Given the description of an element on the screen output the (x, y) to click on. 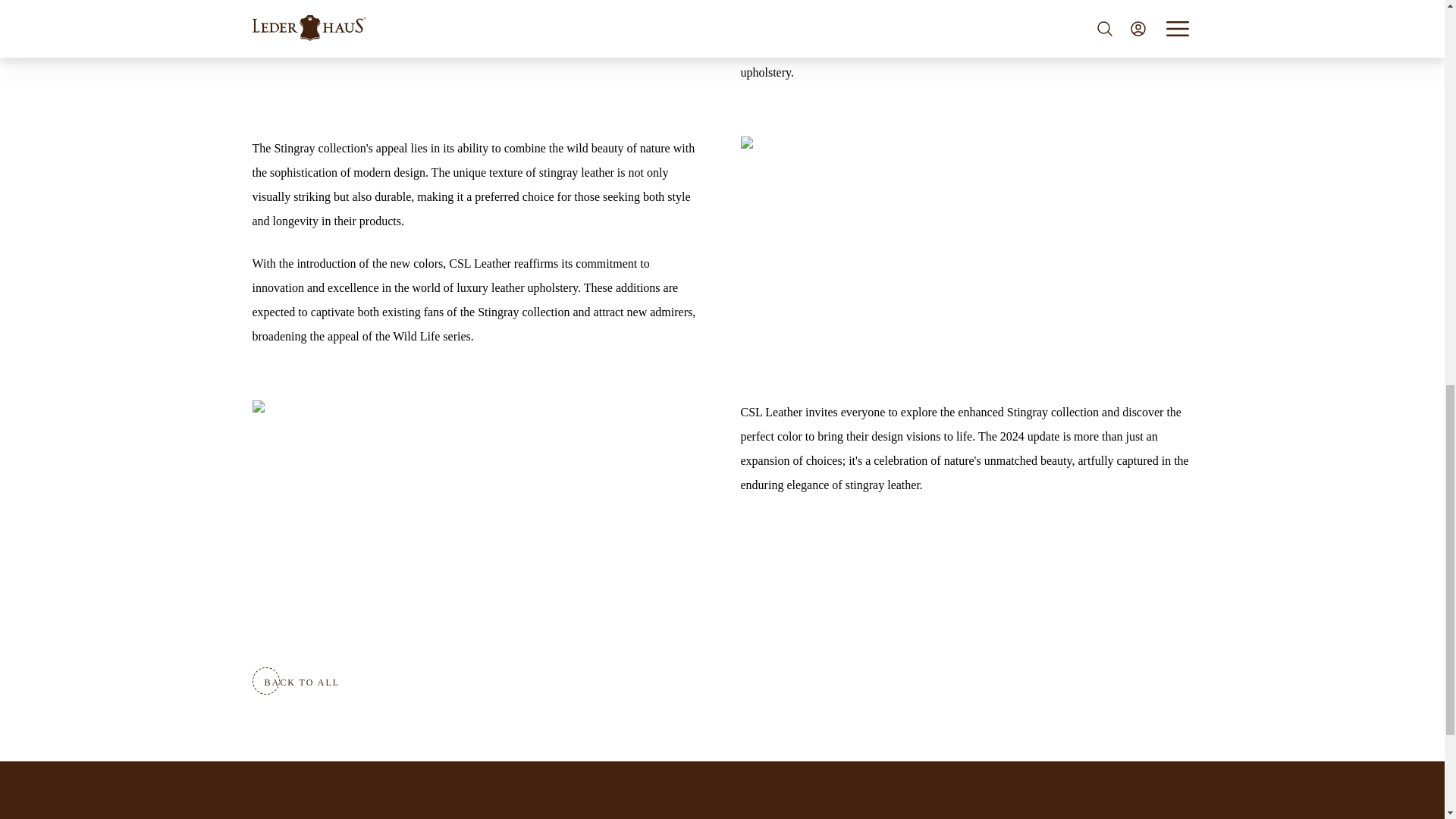
The Stingray collection's (311, 147)
BACK TO ALL (301, 682)
Stingray collection (1053, 411)
